Given the description of an element on the screen output the (x, y) to click on. 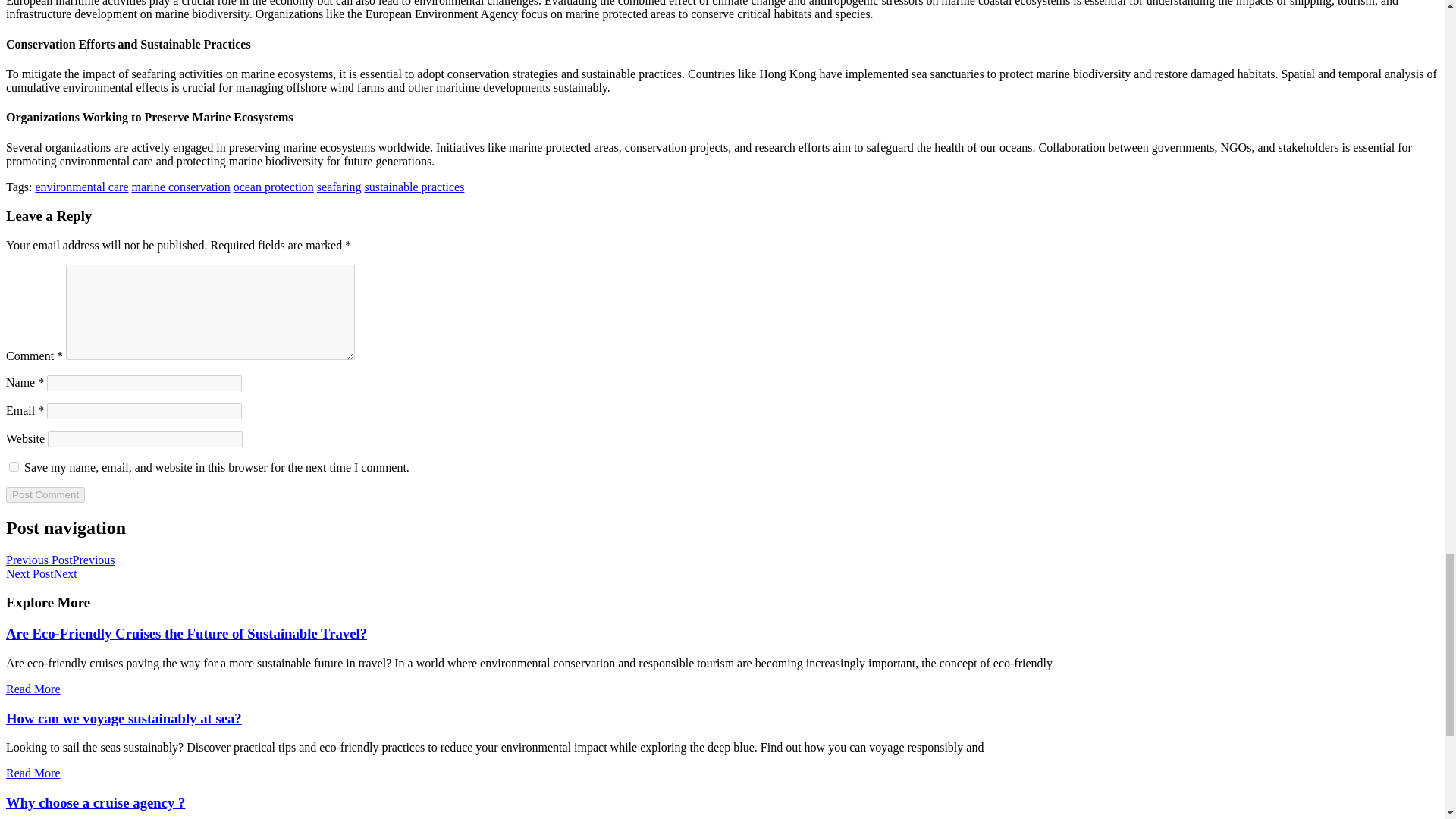
environmental care (81, 186)
marine conservation (180, 186)
yes (13, 466)
Post Comment (44, 494)
ocean protection (273, 186)
